Given the description of an element on the screen output the (x, y) to click on. 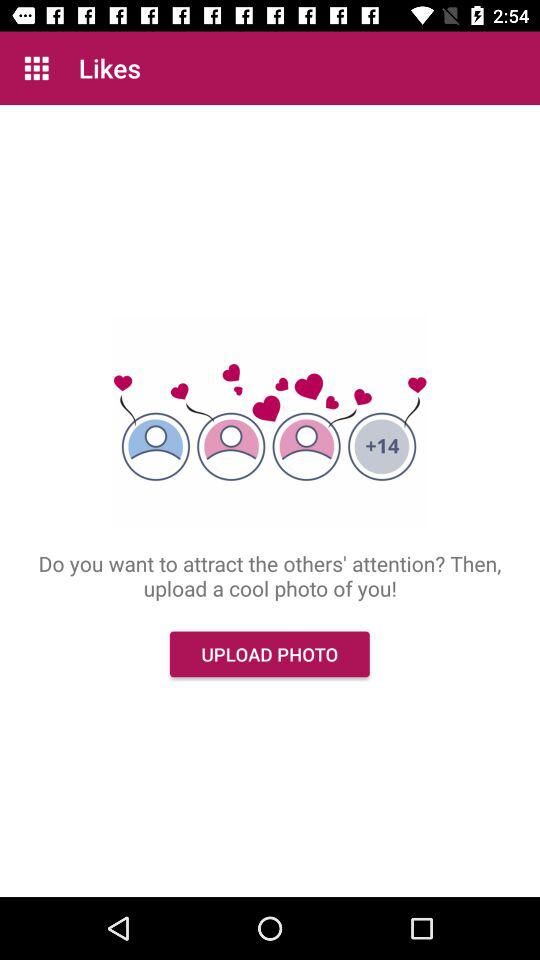
turn on the item above do you want item (36, 68)
